Given the description of an element on the screen output the (x, y) to click on. 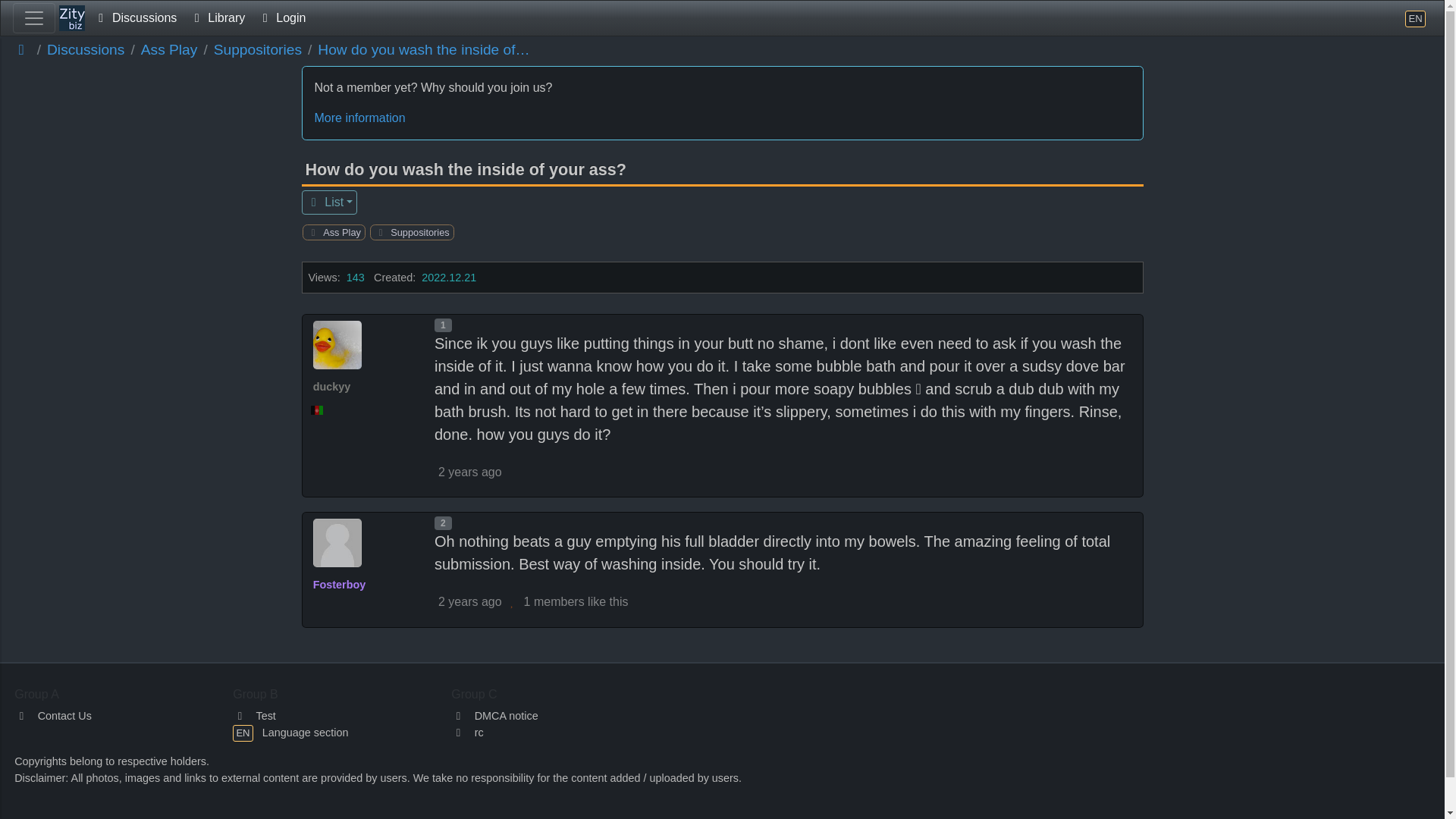
Suppositories (257, 50)
Discussions (84, 50)
Login (280, 18)
EN (1415, 18)
  DMCA notice (494, 715)
Library (216, 18)
  Contact Us (52, 715)
  Test (254, 715)
Suppositories (417, 232)
Ass Play (169, 50)
Ass Play (339, 232)
Discussions (135, 18)
Language section (1415, 18)
EN   Language section (289, 732)
  rc (467, 732)
